Given the description of an element on the screen output the (x, y) to click on. 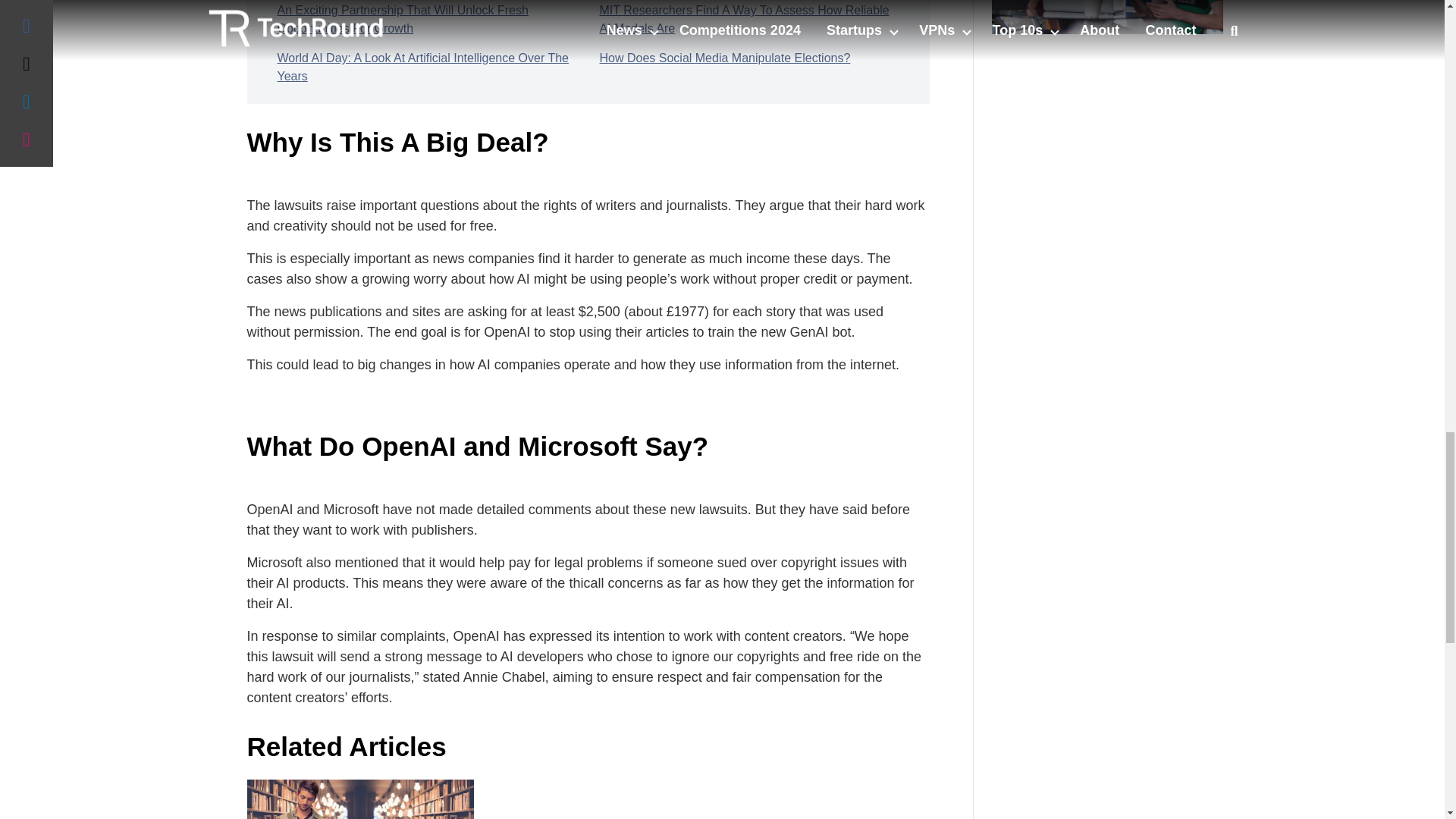
Enter The BAME Top 50 Entrepreneurs - Deadline 10th Nov 2021 (1107, 17)
Ten Ridiculous Degrees You Can Actually Study in the UK (360, 799)
